Given the description of an element on the screen output the (x, y) to click on. 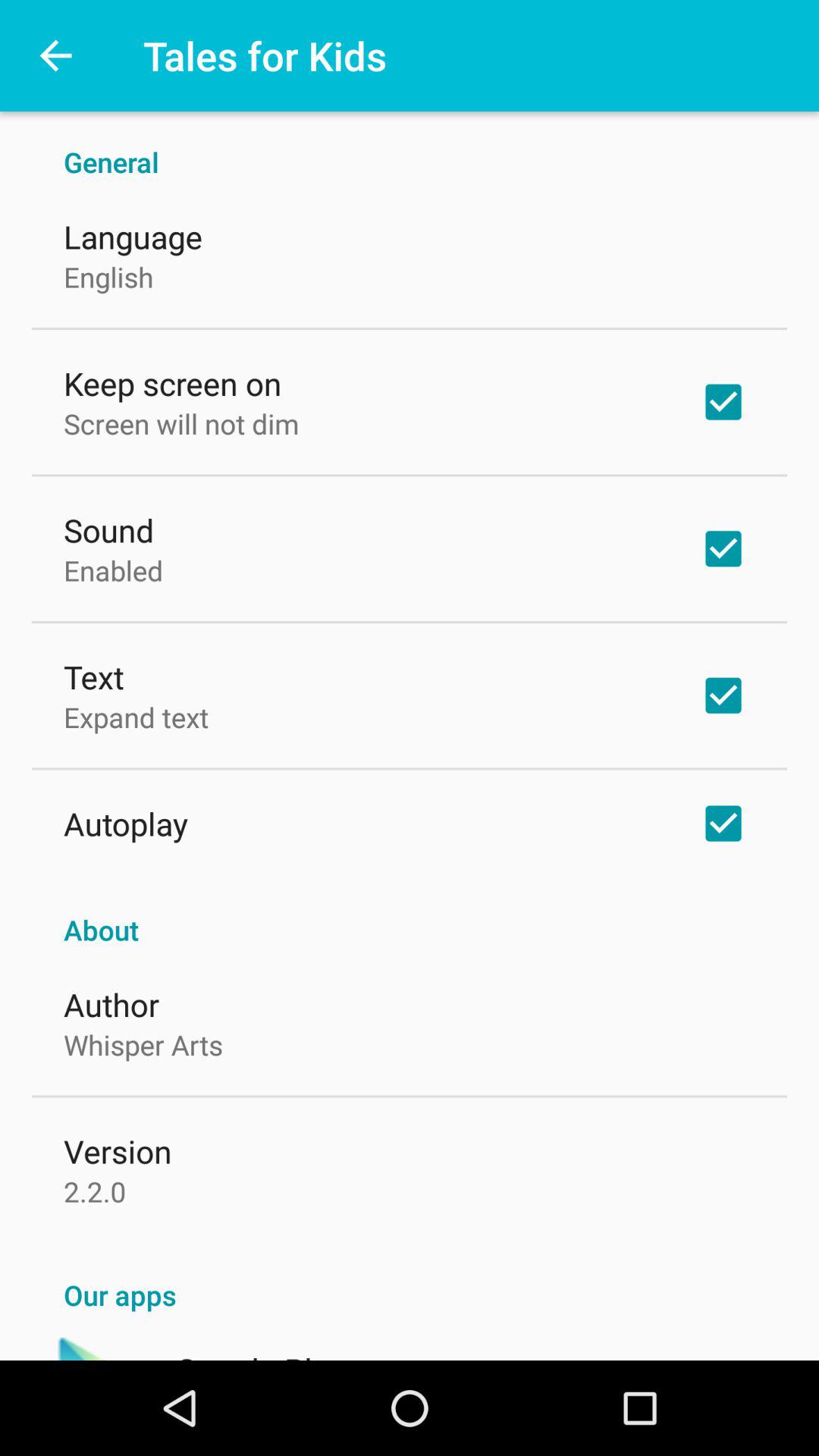
select the icon below about (111, 1004)
